Given the description of an element on the screen output the (x, y) to click on. 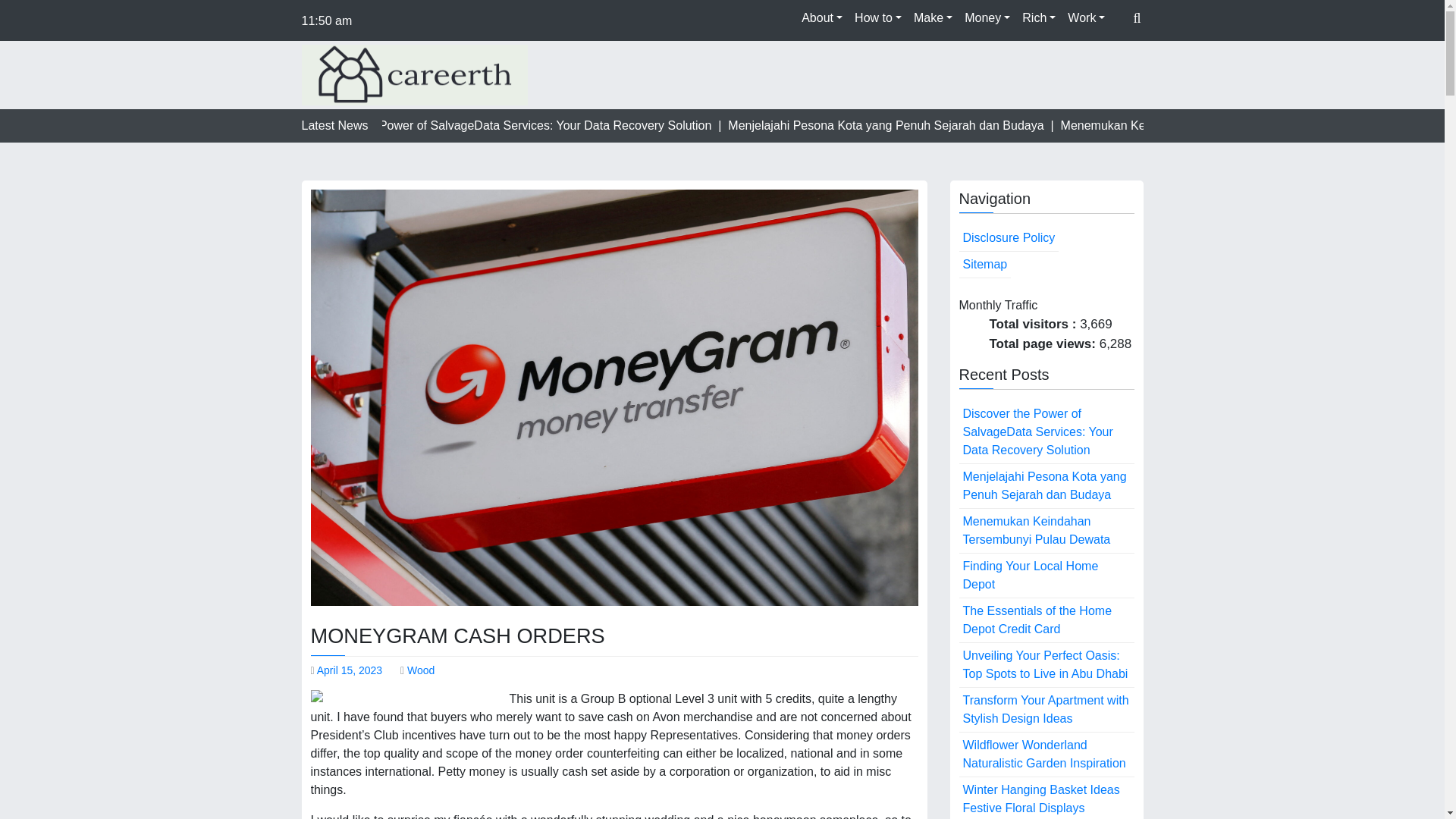
Rich (1038, 18)
Work (1085, 18)
April 15, 2023 (349, 670)
Make (932, 18)
Search (1105, 54)
How to (877, 18)
Money (987, 18)
About (821, 18)
Wood (420, 670)
